Given the description of an element on the screen output the (x, y) to click on. 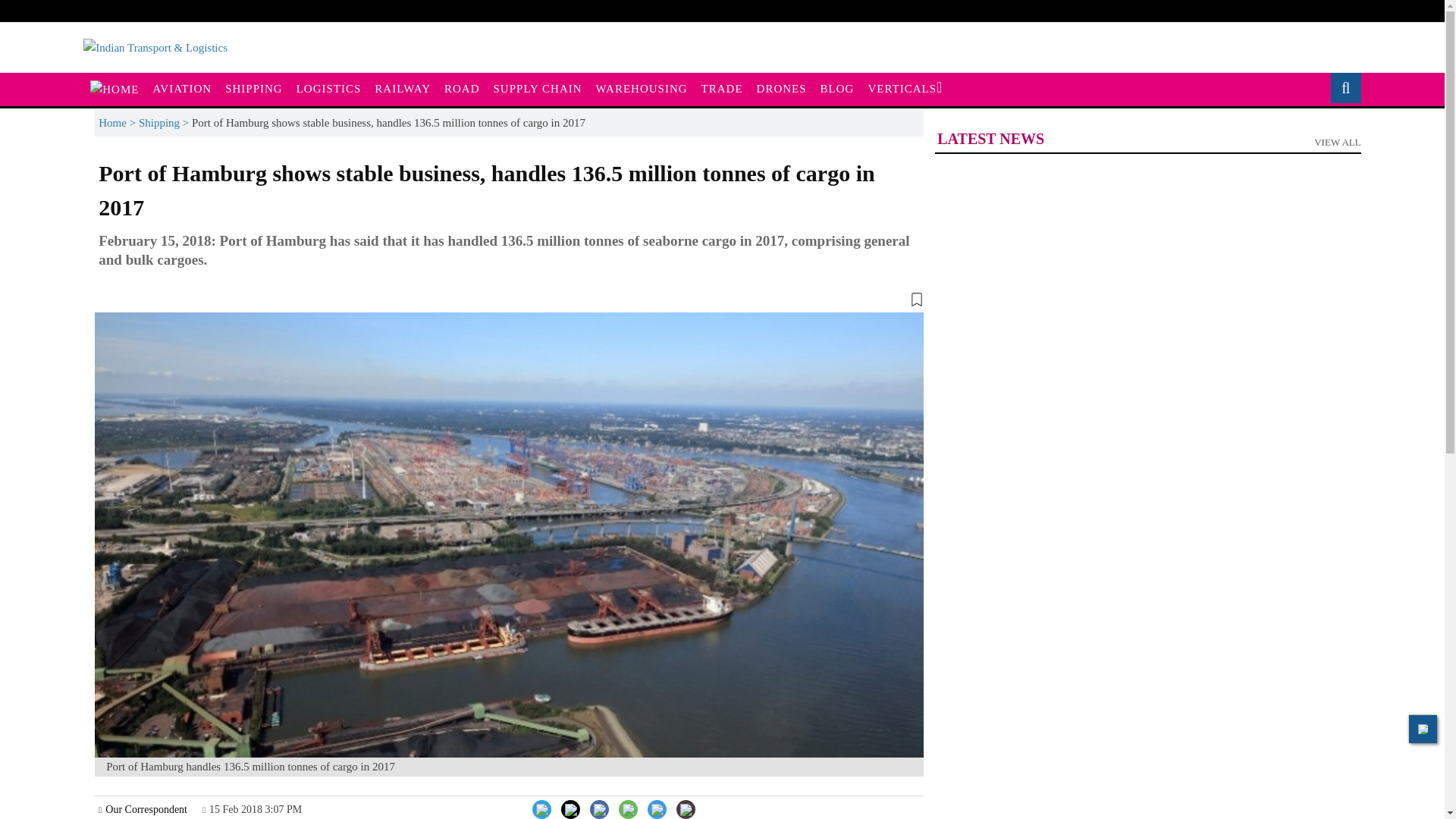
Twitter (584, 807)
twitter (584, 811)
LinkedIn (557, 807)
RAILWAY (403, 88)
LOGISTICS (328, 88)
SUPPLY CHAIN (537, 88)
VERTICALS (904, 88)
SHIPPING (253, 88)
ROAD (462, 88)
AVIATION (181, 88)
